Given the description of an element on the screen output the (x, y) to click on. 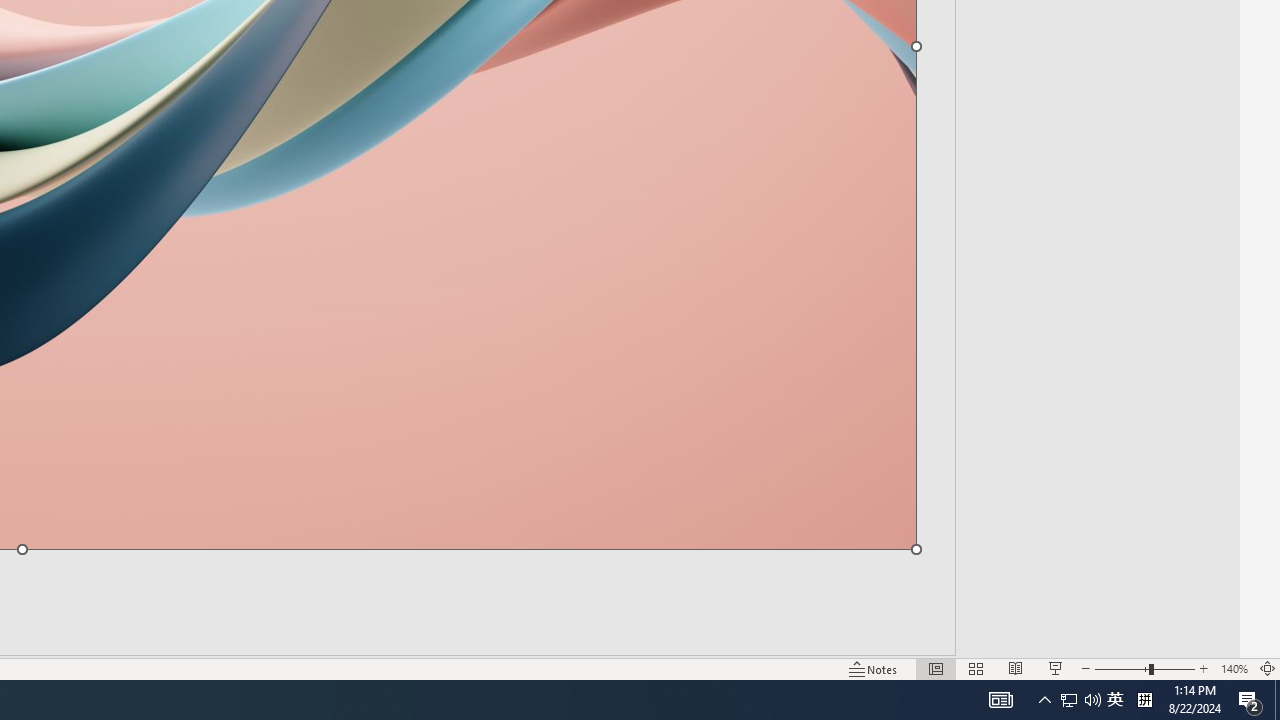
Zoom (1144, 668)
Reading View (1015, 668)
Slide Sorter (975, 668)
Zoom to Fit  (1267, 668)
Notes  (874, 668)
Zoom Out (1121, 668)
Slide Show (1055, 668)
Normal (936, 668)
Zoom 140% (1234, 668)
Zoom In (1204, 668)
